Given the description of an element on the screen output the (x, y) to click on. 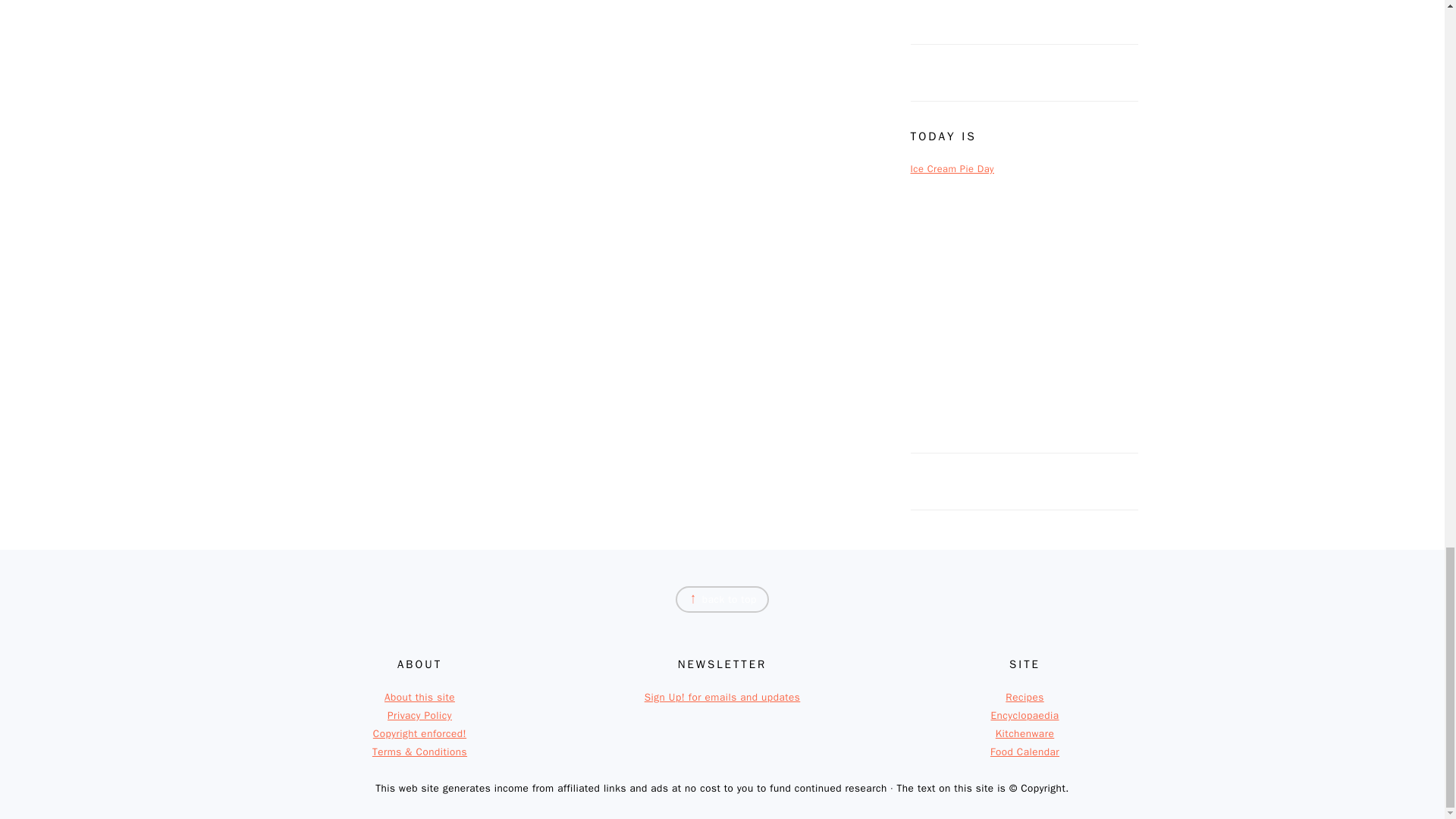
Copyright enforced! (418, 733)
Ice Cream Pie Day (952, 168)
Privacy Policy (419, 715)
Sign Up! for emails and updates (722, 697)
About this site (419, 697)
